Given the description of an element on the screen output the (x, y) to click on. 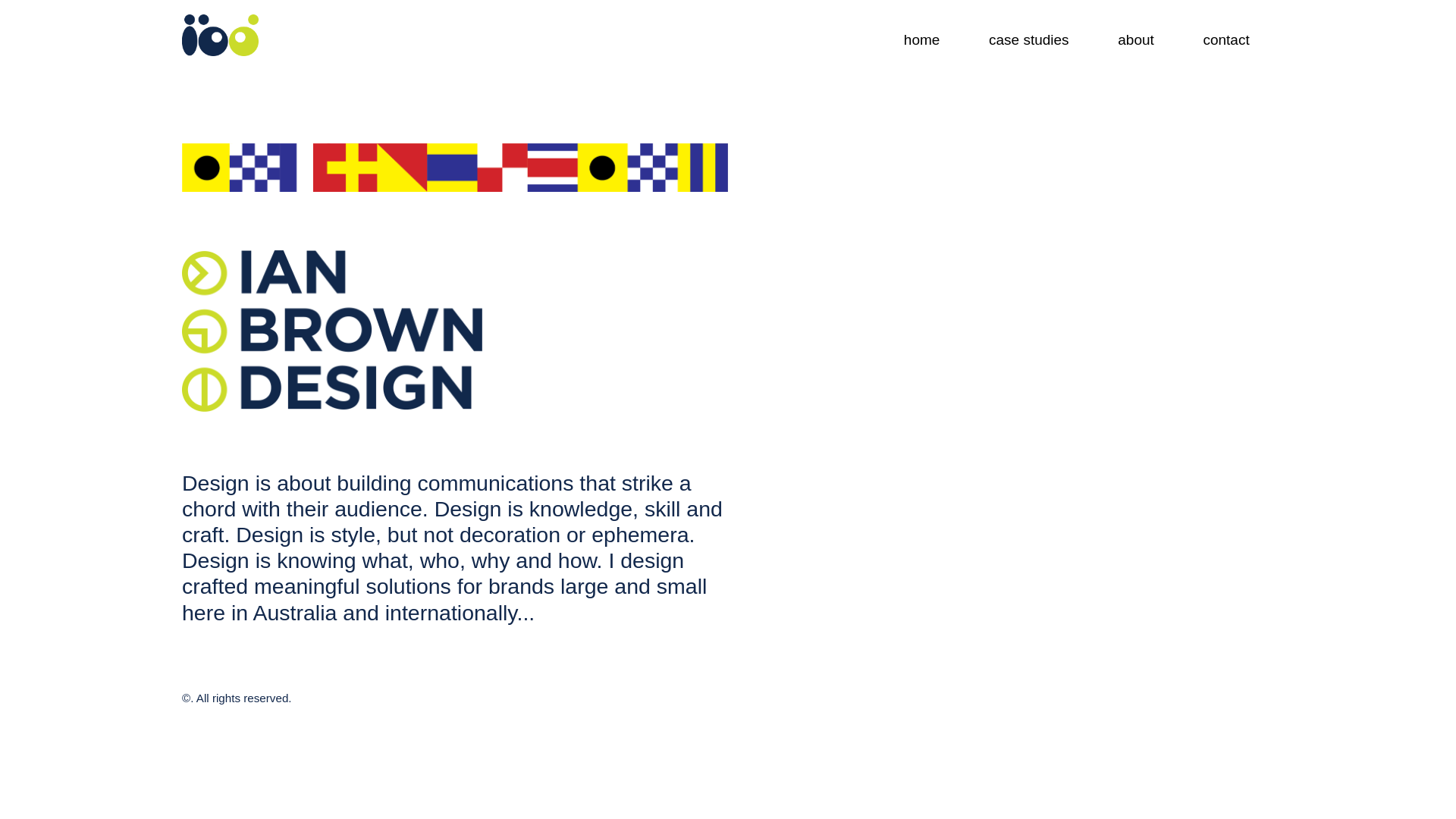
case studies Element type: text (1028, 39)
home Element type: text (921, 39)
contact Element type: text (1226, 39)
about Element type: text (1135, 39)
